Given the description of an element on the screen output the (x, y) to click on. 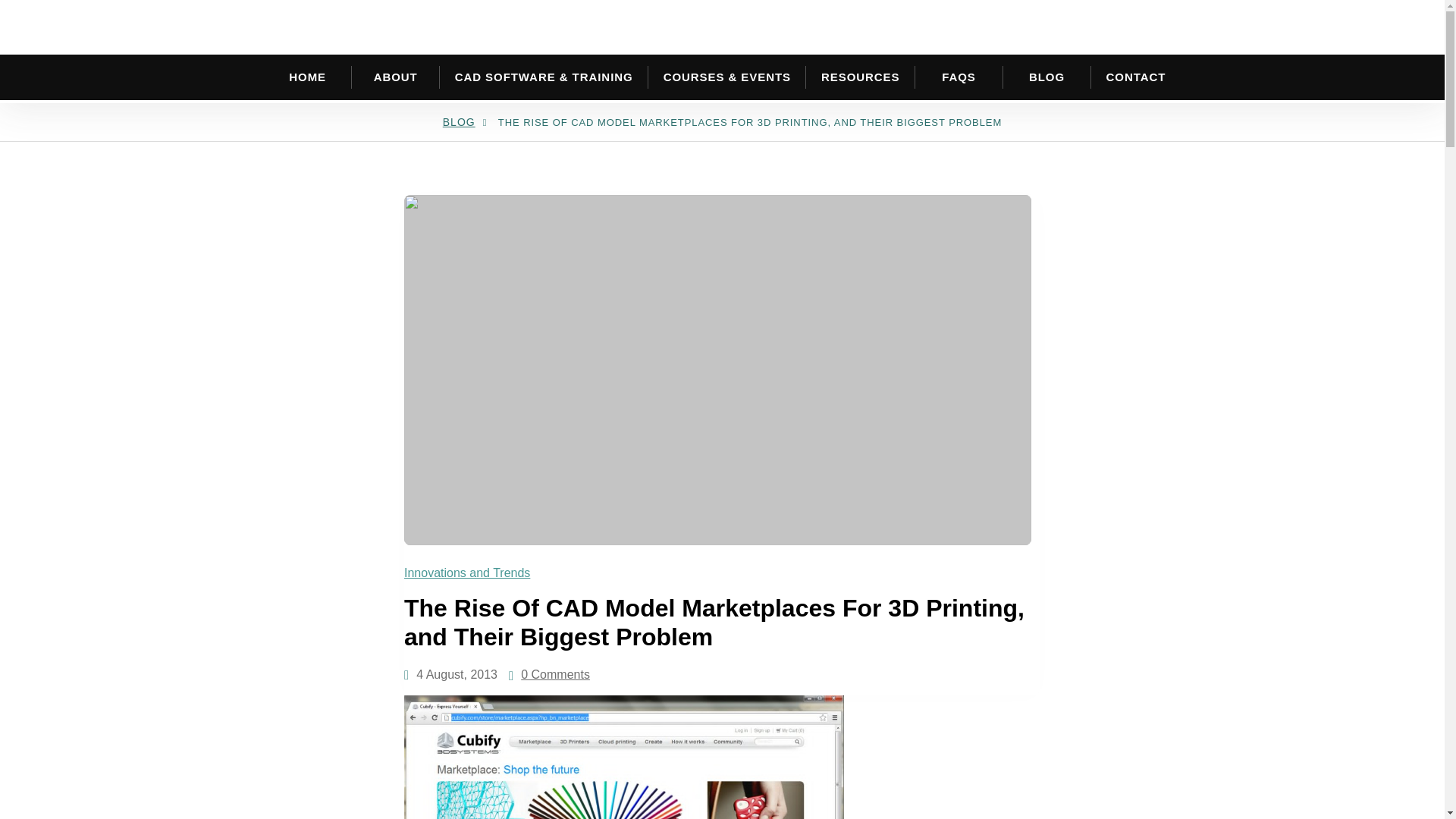
RESOURCES (860, 77)
ABOUT (395, 77)
CONTACT (1135, 77)
Innovations and Trends (470, 572)
HOME (307, 77)
0 Comments (555, 674)
BLOG (459, 121)
FAQS (959, 77)
BLOG (1046, 77)
